Given the description of an element on the screen output the (x, y) to click on. 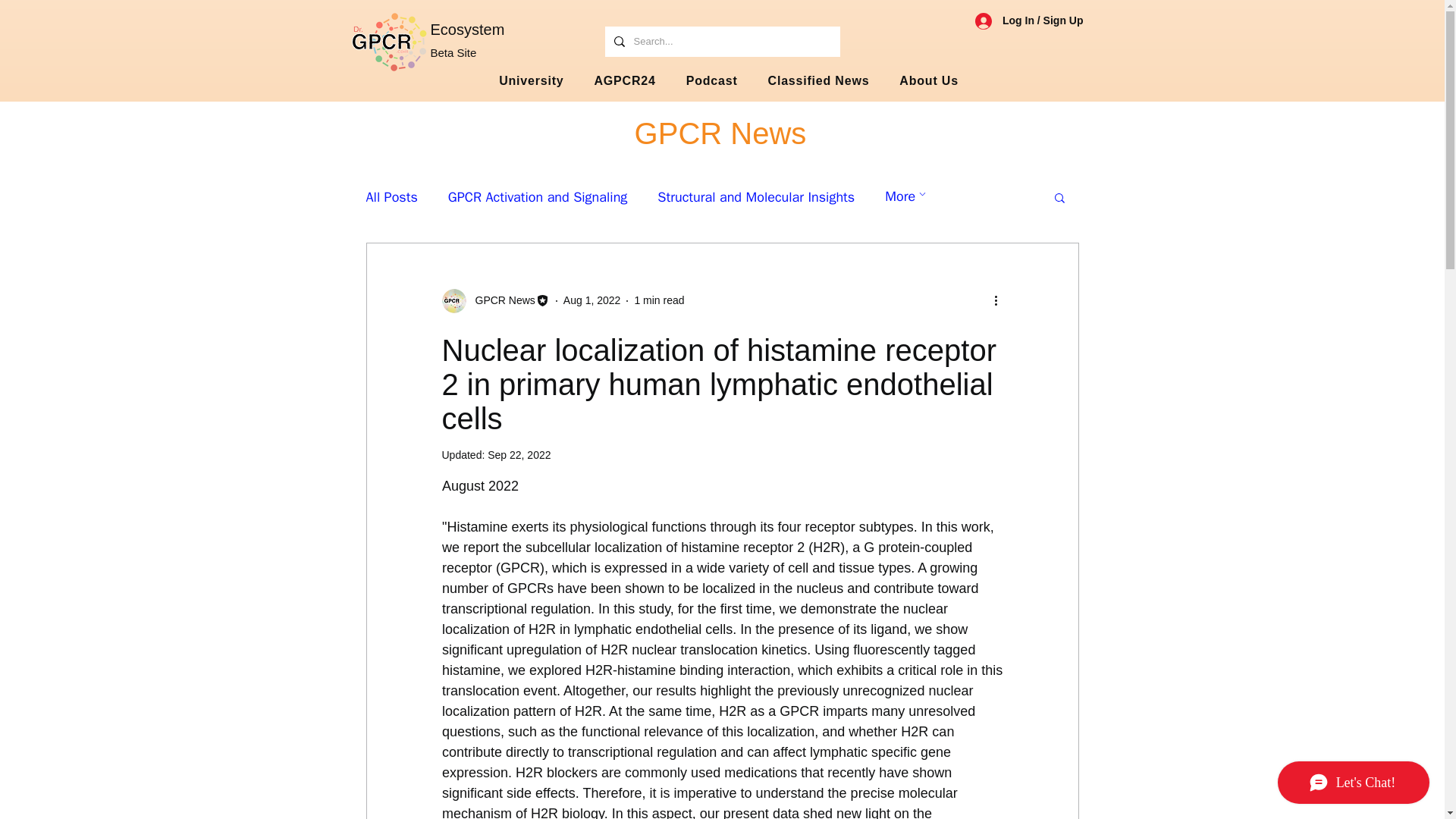
University (531, 81)
AGPCR24 (624, 81)
Aug 1, 2022 (592, 300)
About Us (728, 81)
Classified News (928, 81)
Sep 22, 2022 (818, 81)
1 min read (518, 454)
Podcast (658, 300)
GPCR News (711, 81)
